Given the description of an element on the screen output the (x, y) to click on. 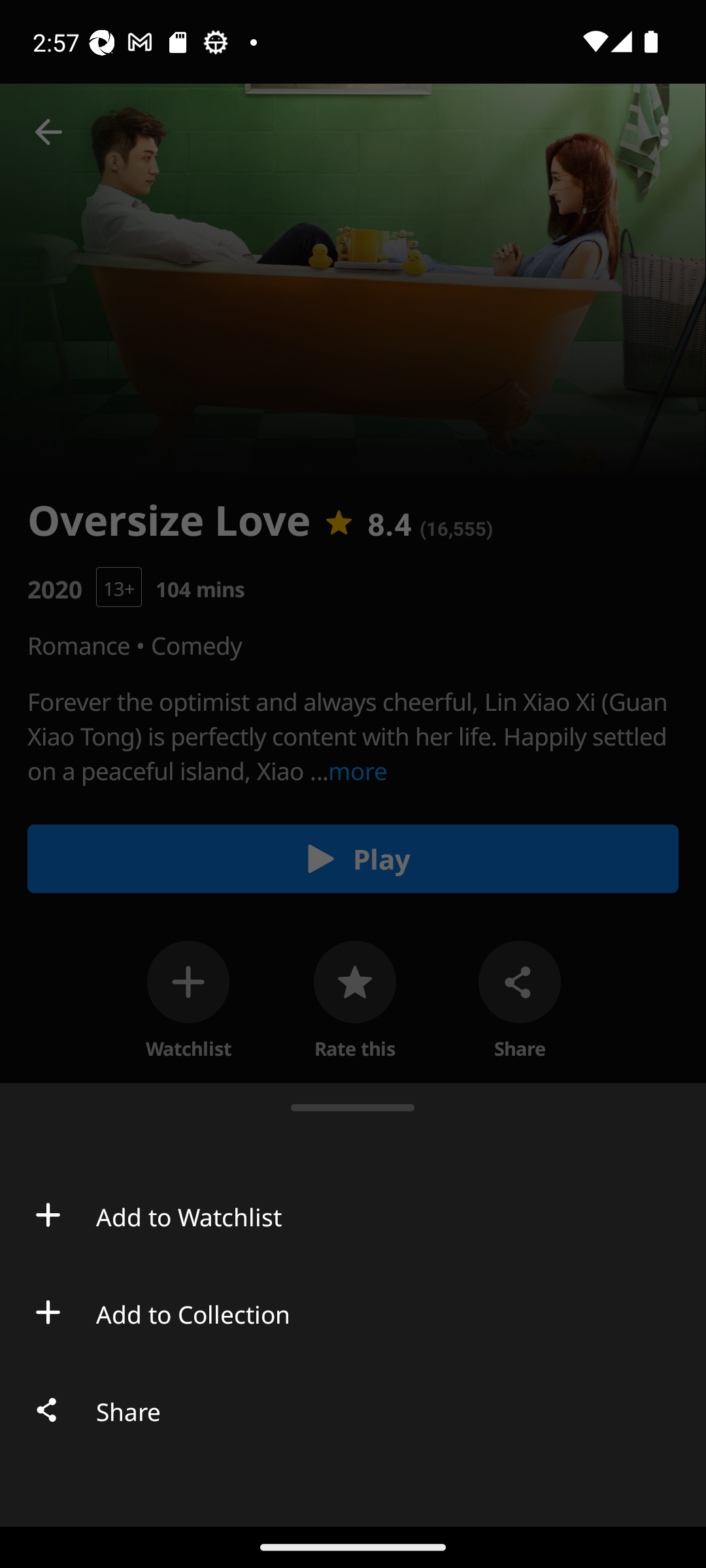
Add to Watchlist (353, 1214)
Add to Collection (353, 1312)
Share (353, 1409)
